Given the description of an element on the screen output the (x, y) to click on. 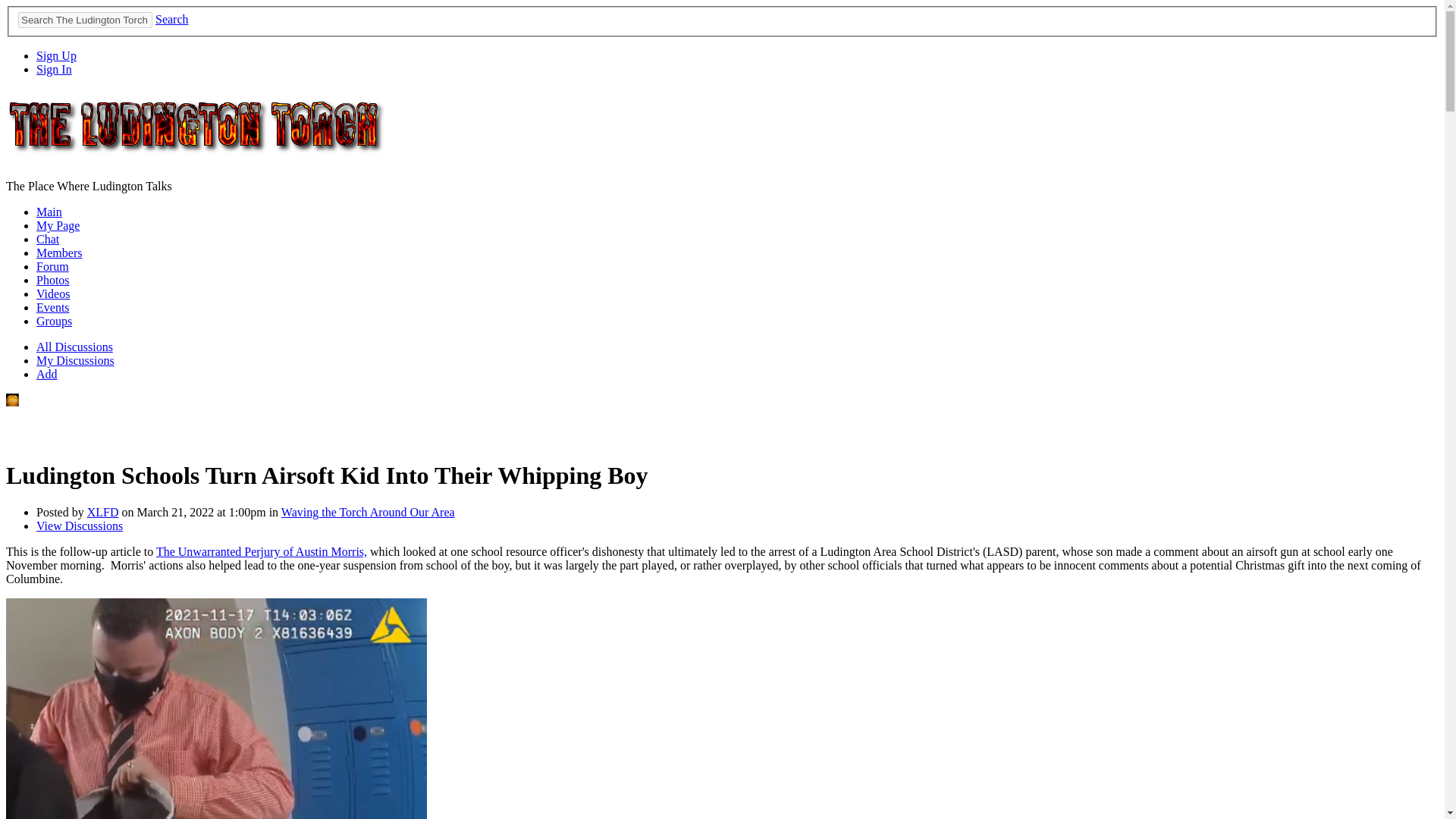
Waving the Torch Around Our Area (367, 512)
Videos (52, 293)
Photos (52, 279)
My Discussions (75, 359)
Members (58, 252)
Add (47, 373)
Search The Ludington Torch (84, 19)
View Discussions (79, 525)
Search The Ludington Torch (84, 19)
Sign In (53, 69)
Main (49, 211)
Sign Up (56, 55)
Groups (53, 320)
XLFD (103, 512)
Posted by (61, 512)
